Given the description of an element on the screen output the (x, y) to click on. 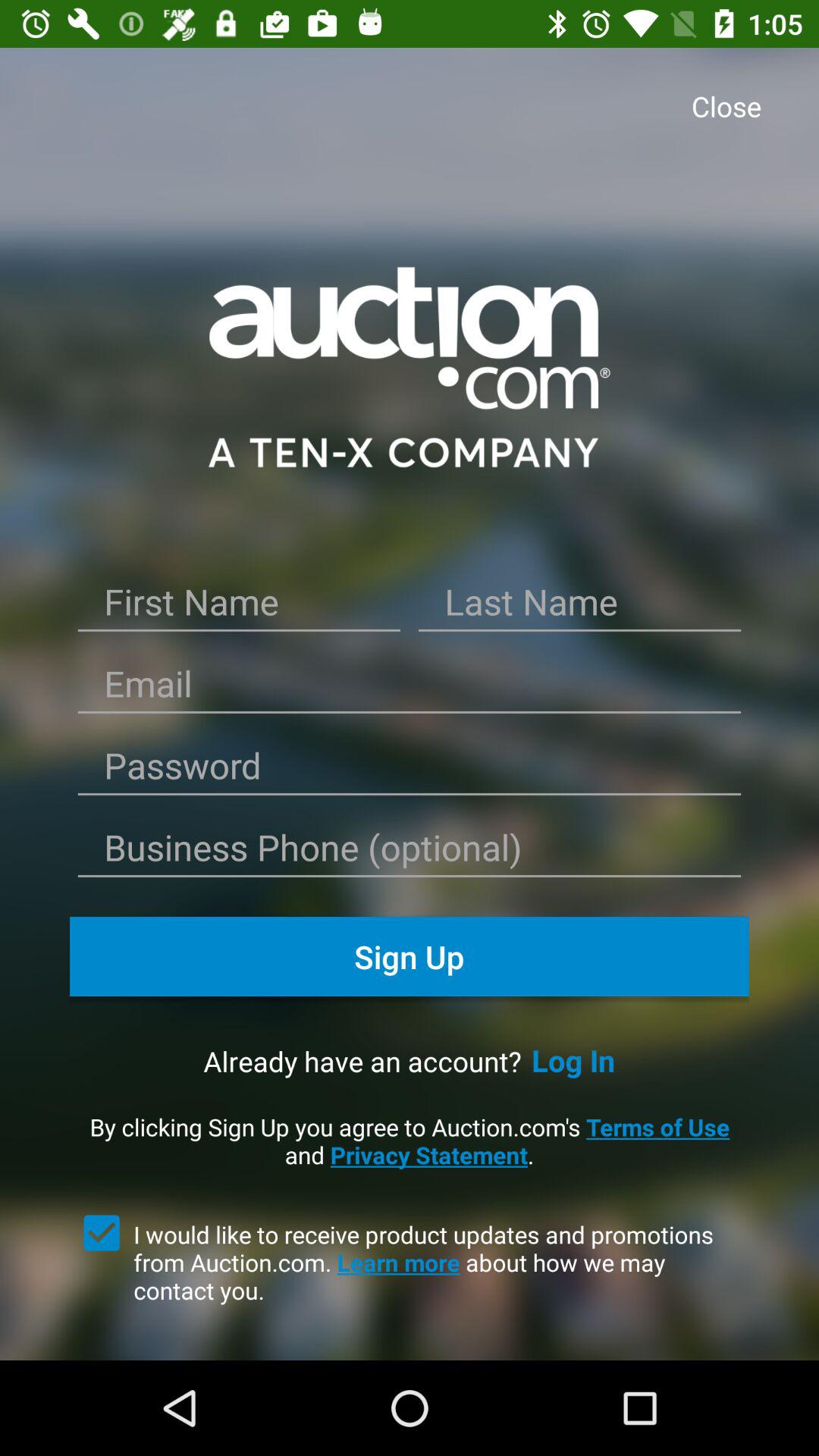
enter password (409, 771)
